Given the description of an element on the screen output the (x, y) to click on. 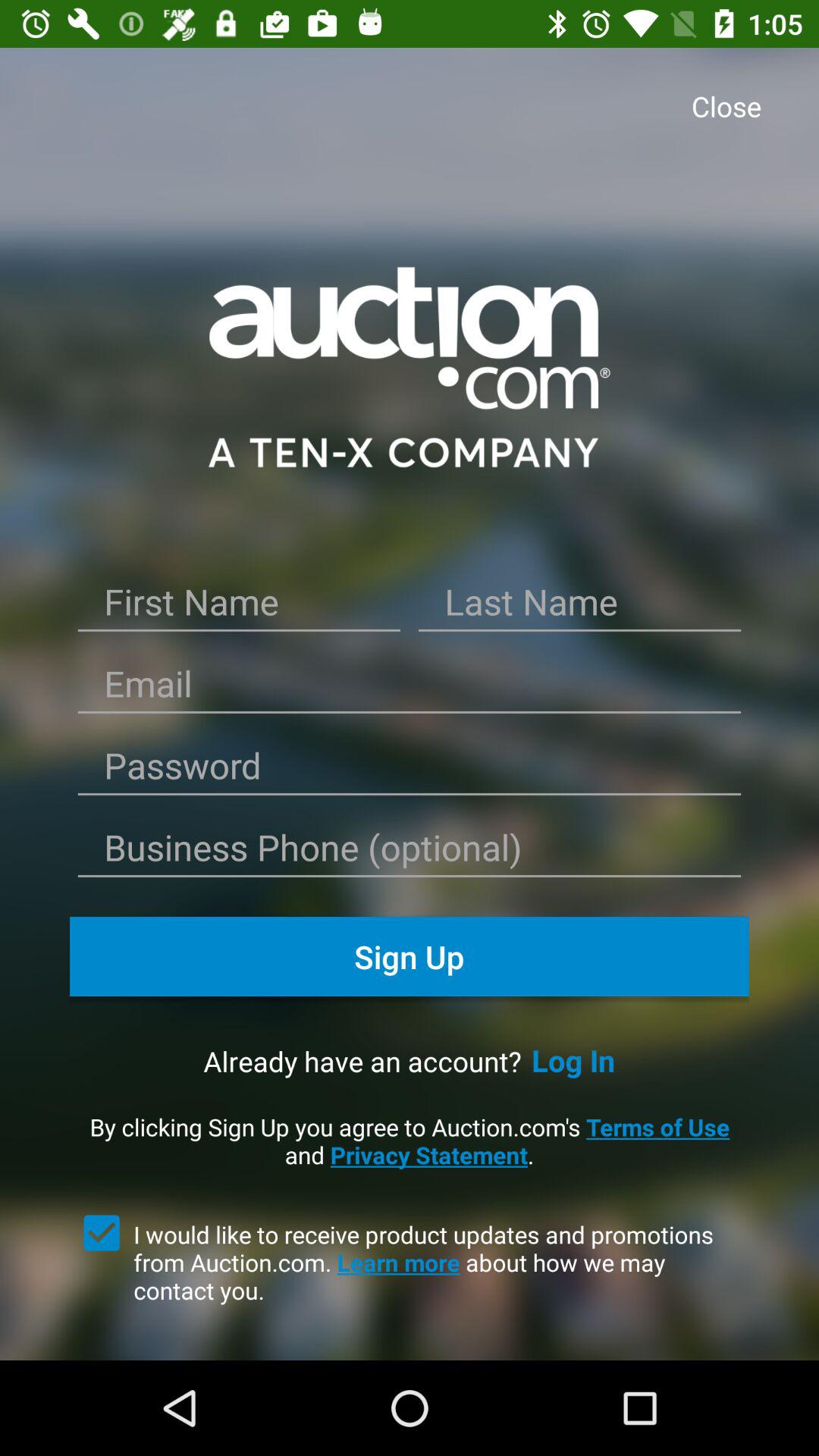
enter password (409, 771)
